Given the description of an element on the screen output the (x, y) to click on. 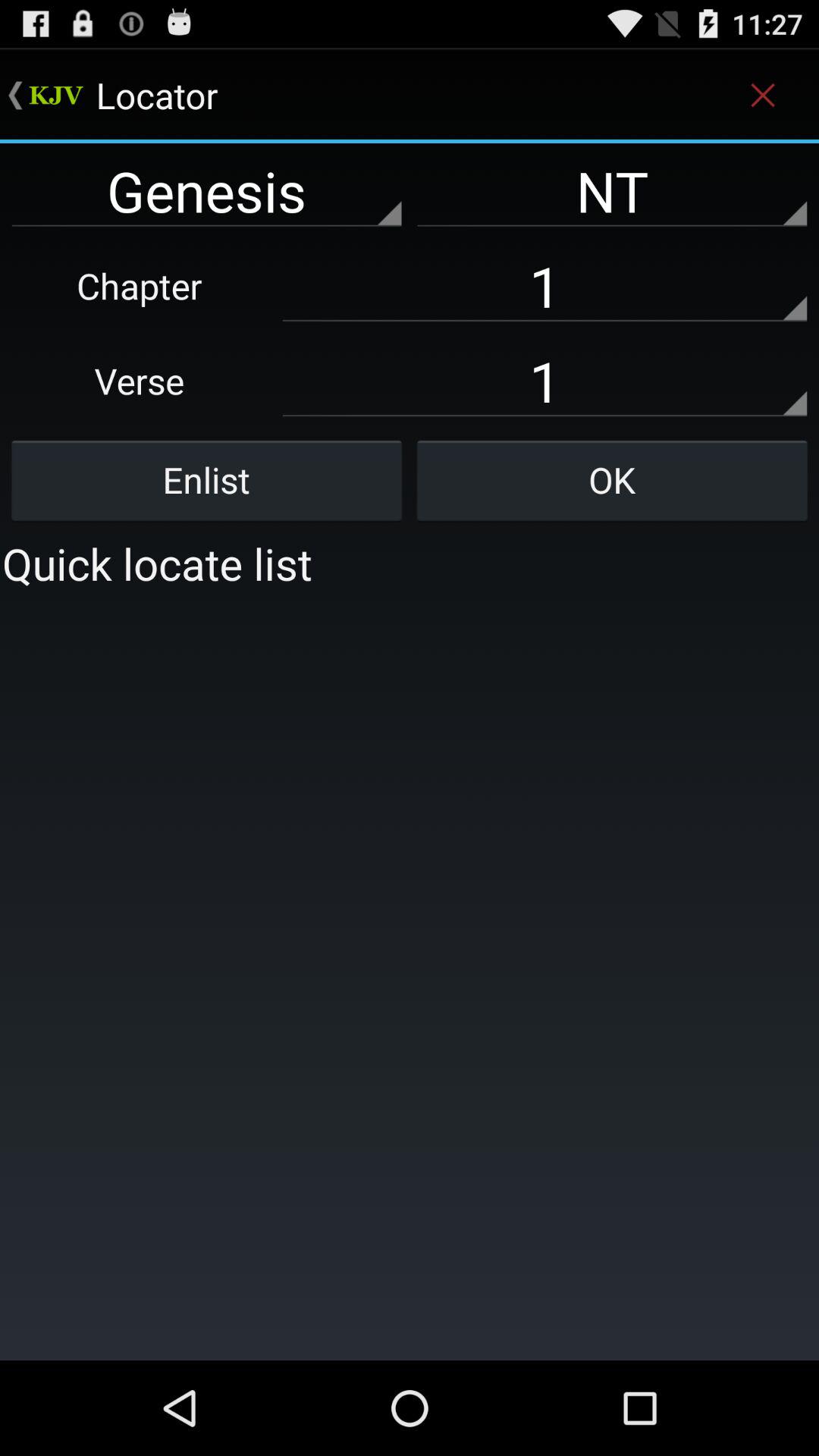
tap button next to the enlist icon (612, 479)
